Given the description of an element on the screen output the (x, y) to click on. 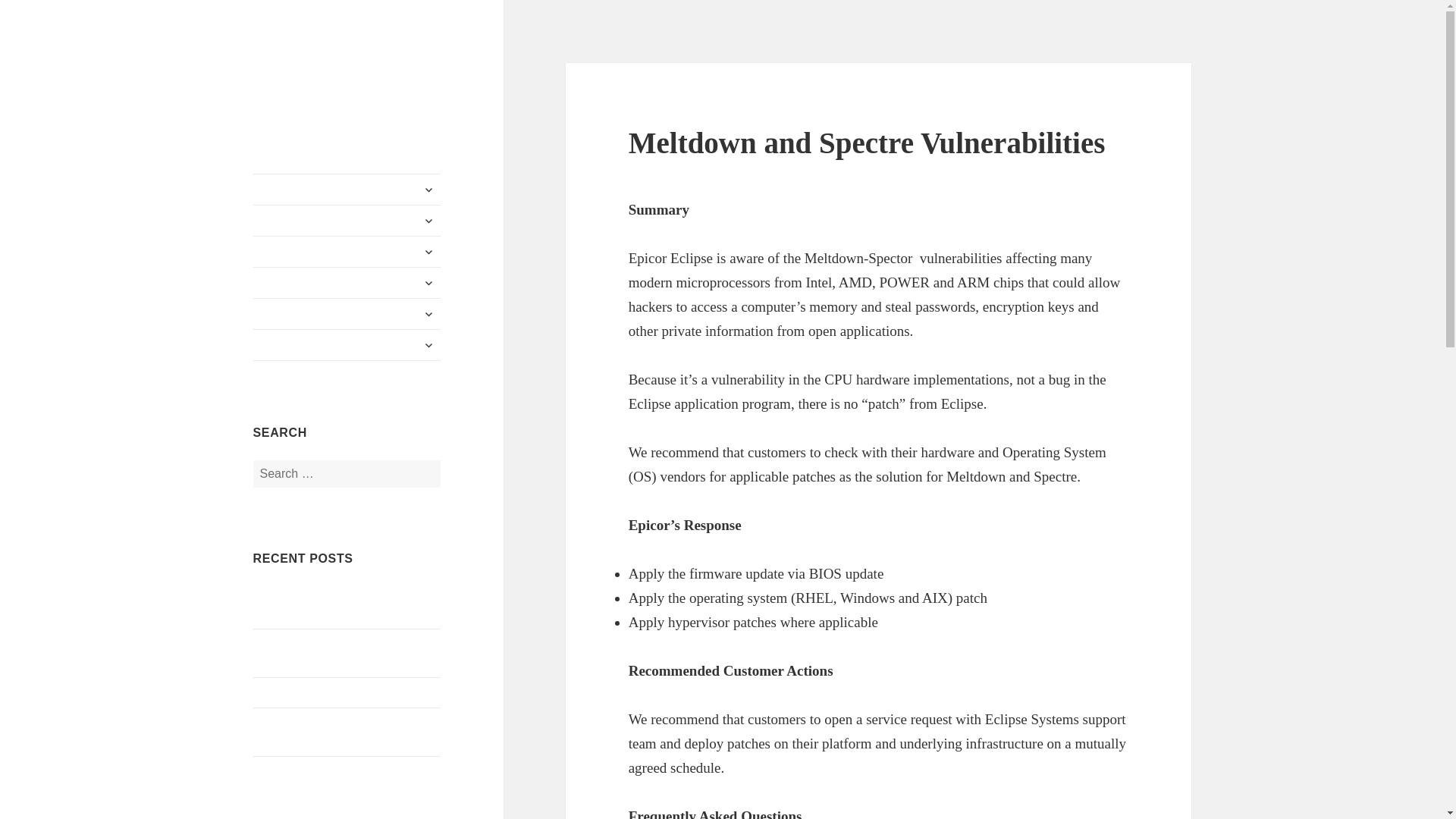
Redbook (347, 220)
expand child menu (428, 220)
About (347, 189)
Eclipse Systems Knowledge Base (334, 86)
Services (347, 282)
Requirements (347, 251)
expand child menu (428, 189)
Advisories (347, 313)
expand child menu (428, 251)
